Given the description of an element on the screen output the (x, y) to click on. 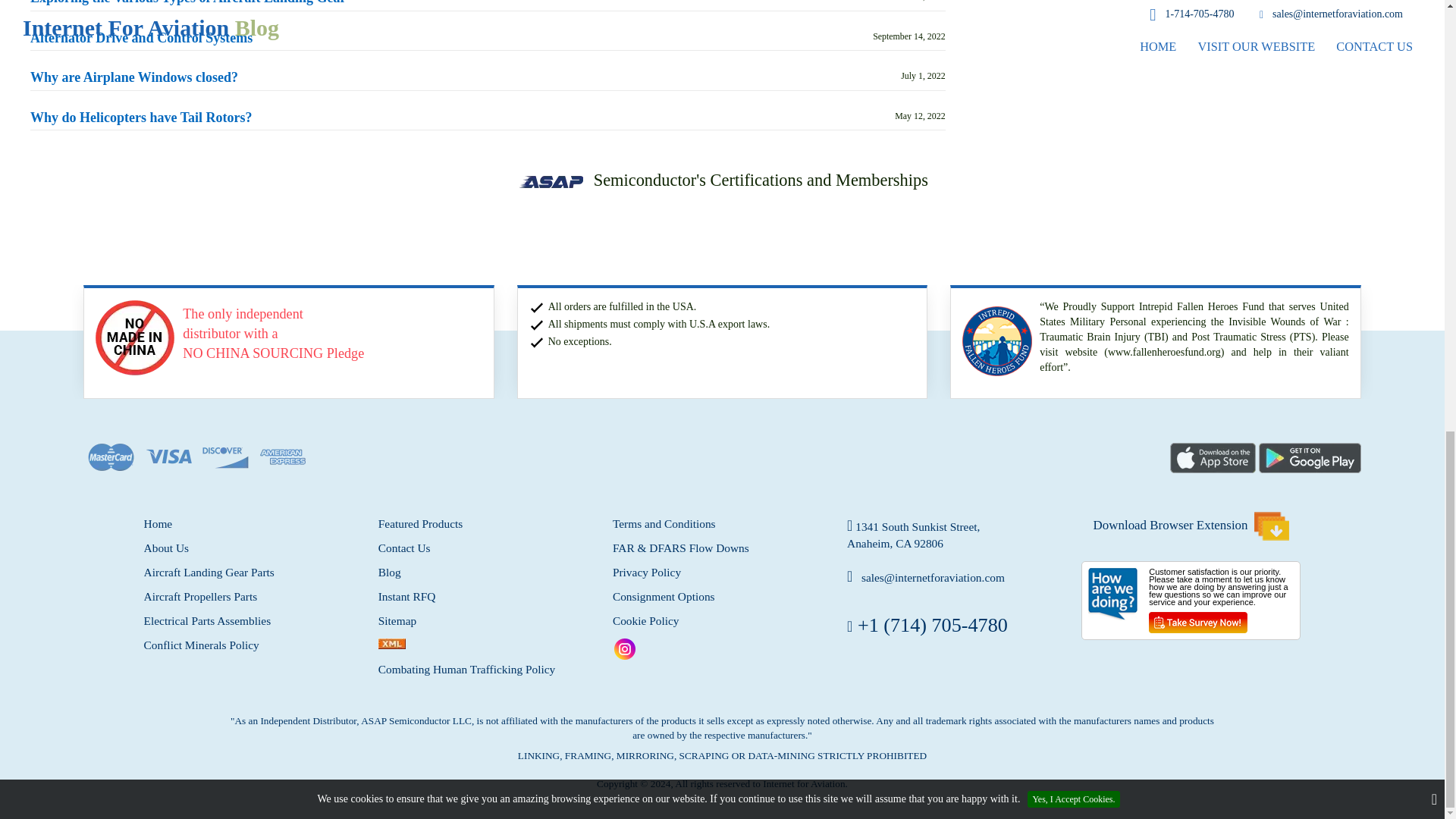
Exploring the Various Types of Aircraft Landing Gear (188, 3)
Alternator Drive and Control Systems (140, 38)
Why do Helicopters have Tail Rotors? (140, 117)
Why are Airplane Windows closed? (134, 77)
